Given the description of an element on the screen output the (x, y) to click on. 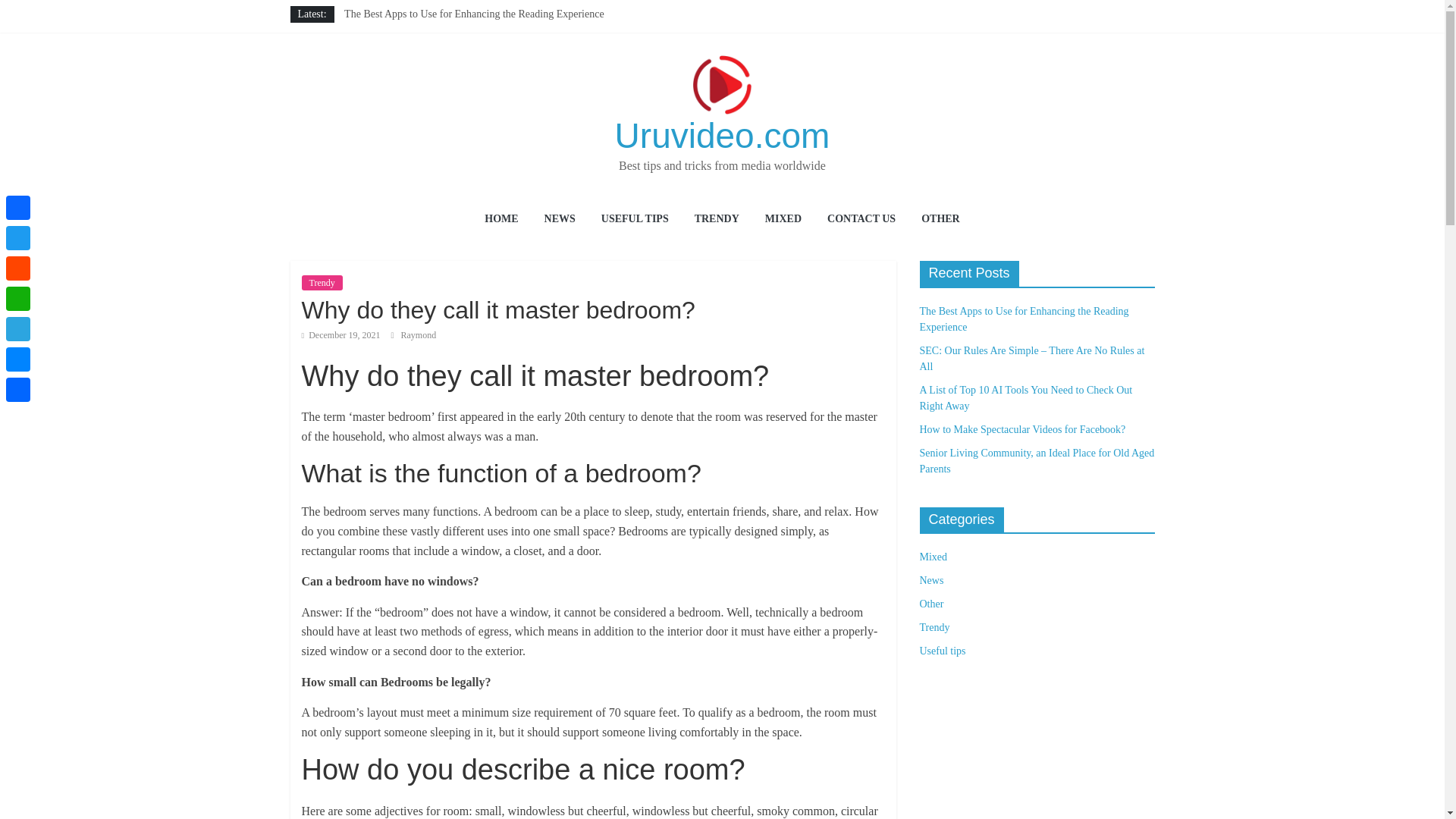
Raymond (417, 335)
Twitter (17, 237)
A List of Top 10 AI Tools You Need to Check Out Right Away (476, 48)
Other (930, 603)
HOME (501, 219)
CONTACT US (861, 219)
How to Make Spectacular Videos for Facebook? (1021, 429)
Senior Living Community, an Ideal Place for Old Aged Parents (477, 81)
A List of Top 10 AI Tools You Need to Check Out Right Away (1025, 397)
The Best Apps to Use for Enhancing the Reading Experience (1023, 318)
